Given the description of an element on the screen output the (x, y) to click on. 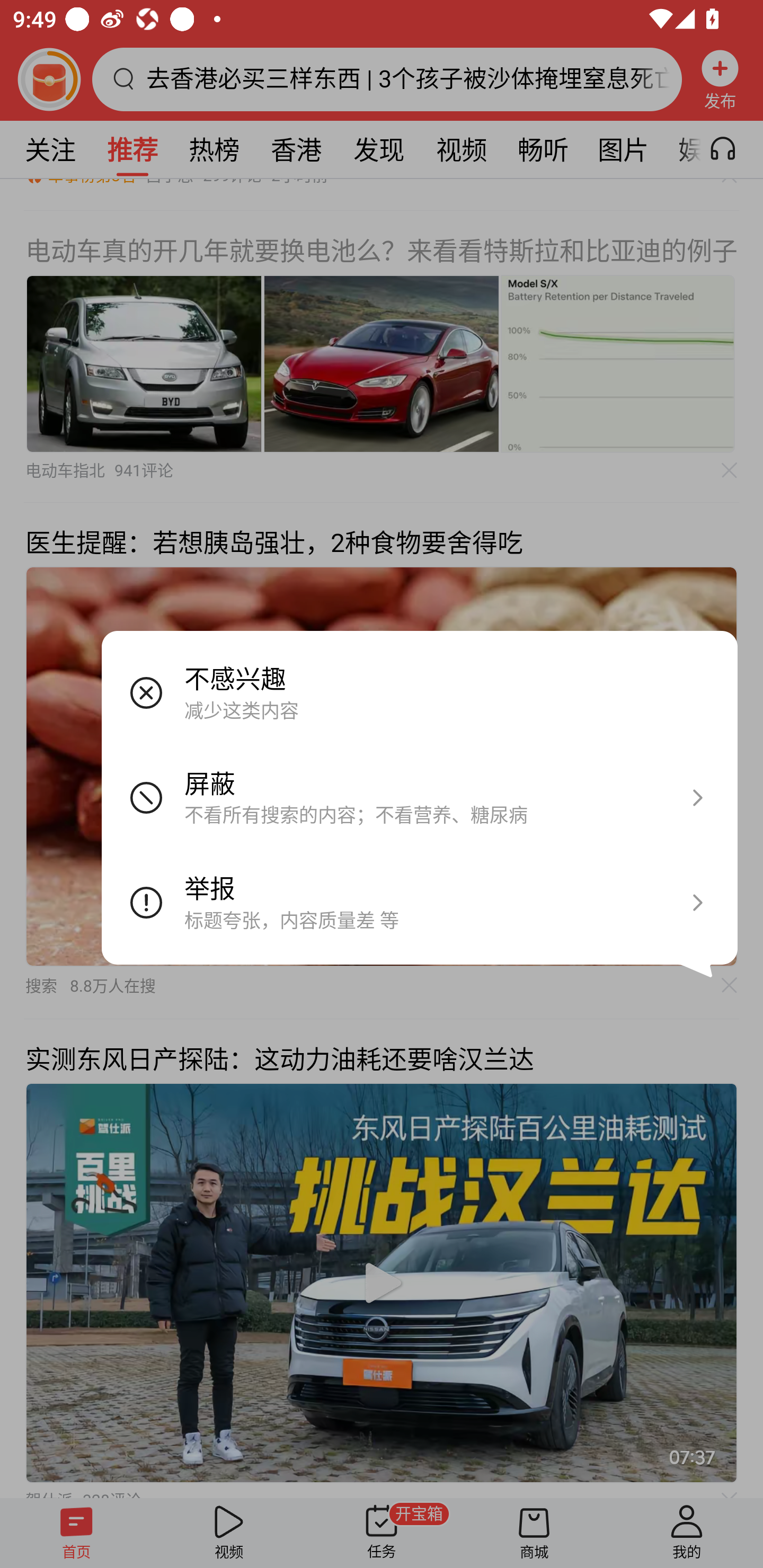
不感兴趣 减少这类内容 (419, 691)
屏蔽 不看所有搜索的内容；不看营养、糖尿病 (419, 796)
举报 标题夸张，内容质量差 等 (419, 901)
